Given the description of an element on the screen output the (x, y) to click on. 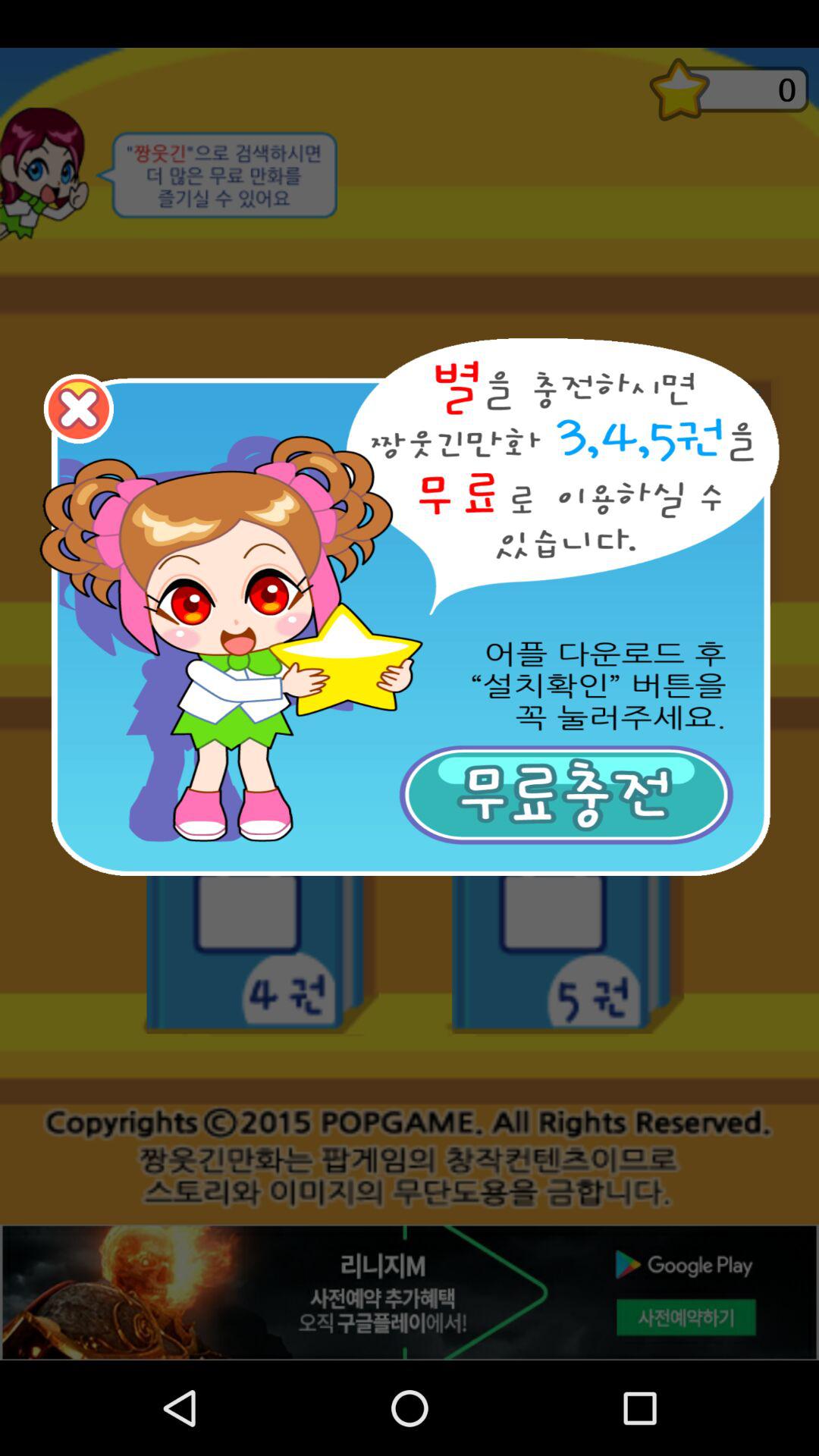
close popup window (78, 409)
